Given the description of an element on the screen output the (x, y) to click on. 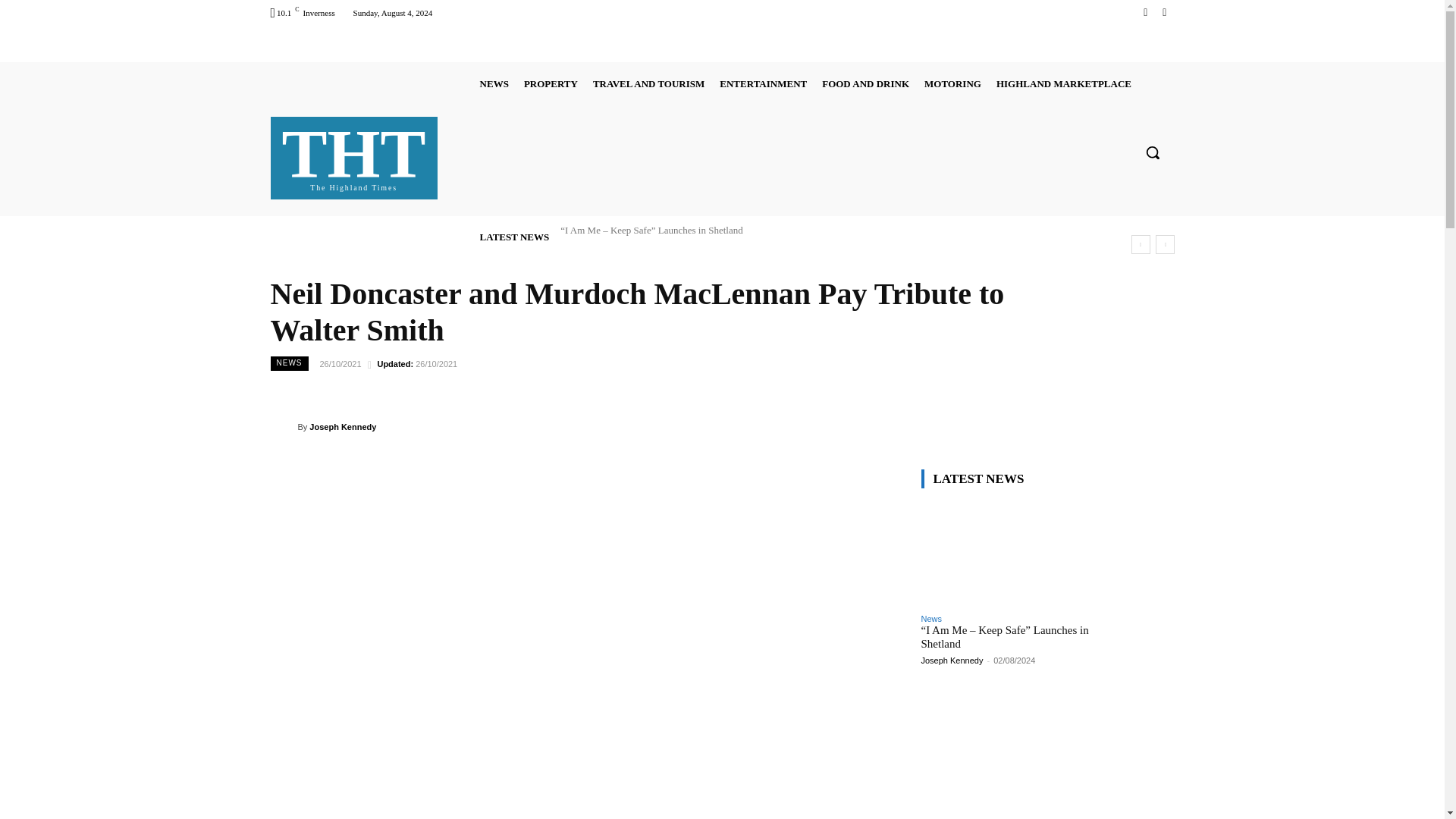
FOOD AND DRINK (865, 83)
TRAVEL AND TOURISM (354, 155)
Facebook (648, 83)
MOTORING (1144, 12)
PROPERTY (952, 83)
Twitter (550, 83)
ENTERTAINMENT (1163, 12)
NEWS (762, 83)
HIGHLAND MARKETPLACE (494, 83)
